Given the description of an element on the screen output the (x, y) to click on. 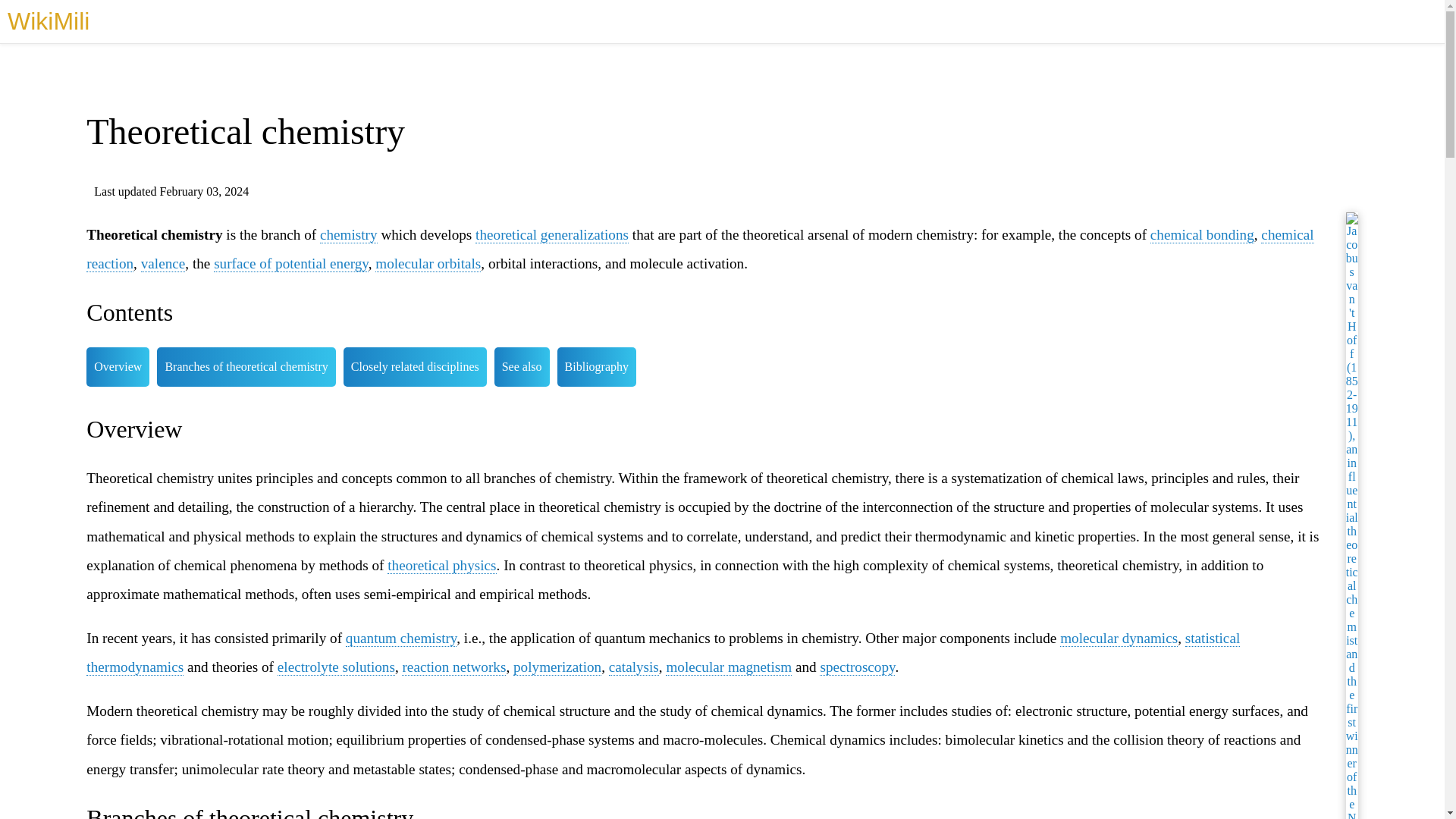
Overview (117, 366)
chemical reaction (699, 248)
molecular orbitals (427, 263)
Potential energy surface (291, 263)
Chemical reaction (699, 248)
molecular magnetism (728, 667)
polymerization (557, 667)
theoretical generalizations (552, 234)
WikiMili (47, 21)
Polymerization (557, 667)
Closely related disciplines (414, 366)
Catalysis (633, 667)
See also (522, 366)
theoretical physics (441, 565)
statistical thermodynamics (662, 652)
